Given the description of an element on the screen output the (x, y) to click on. 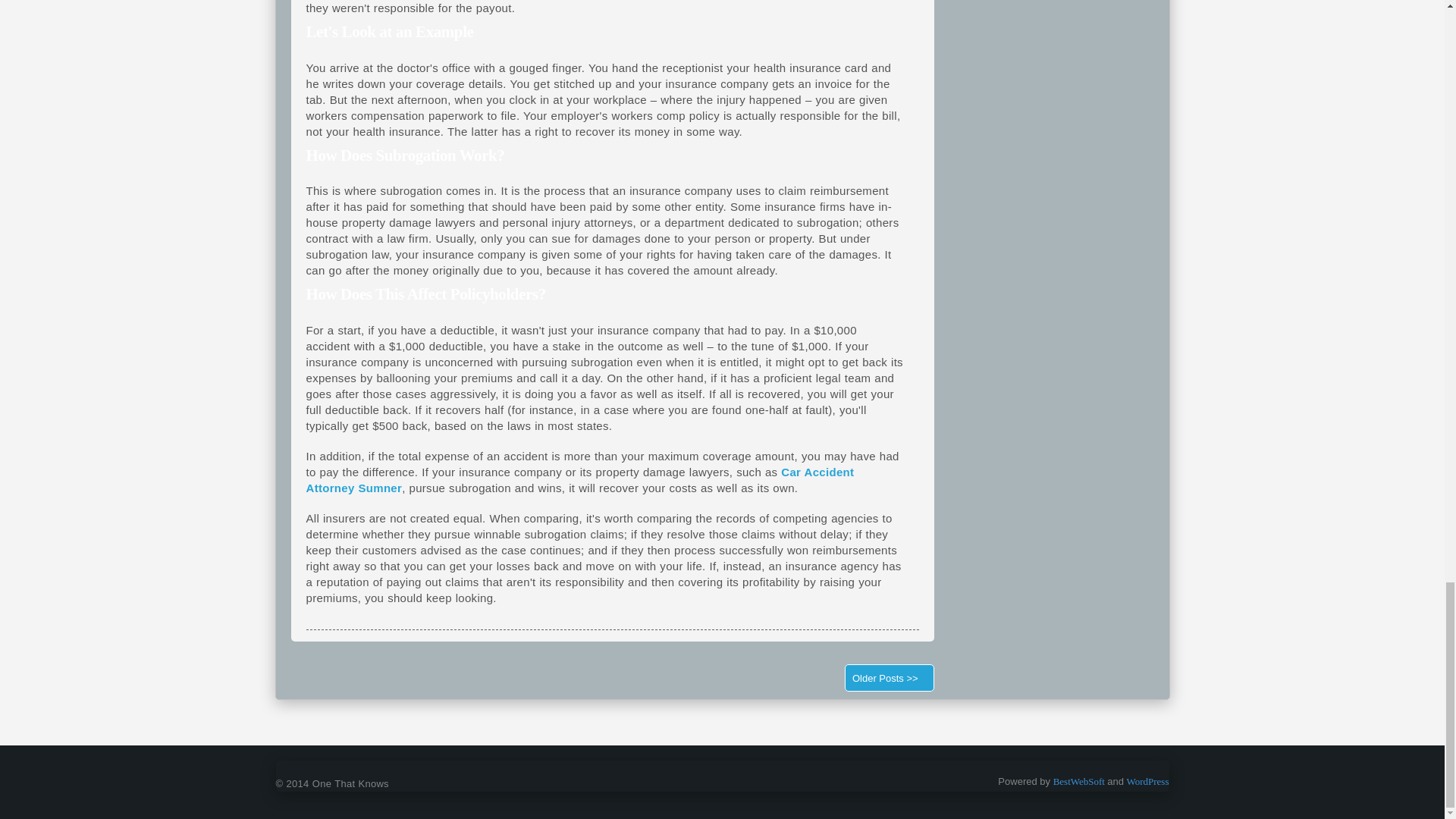
Car Accident Attorney Sumner (579, 480)
